Given the description of an element on the screen output the (x, y) to click on. 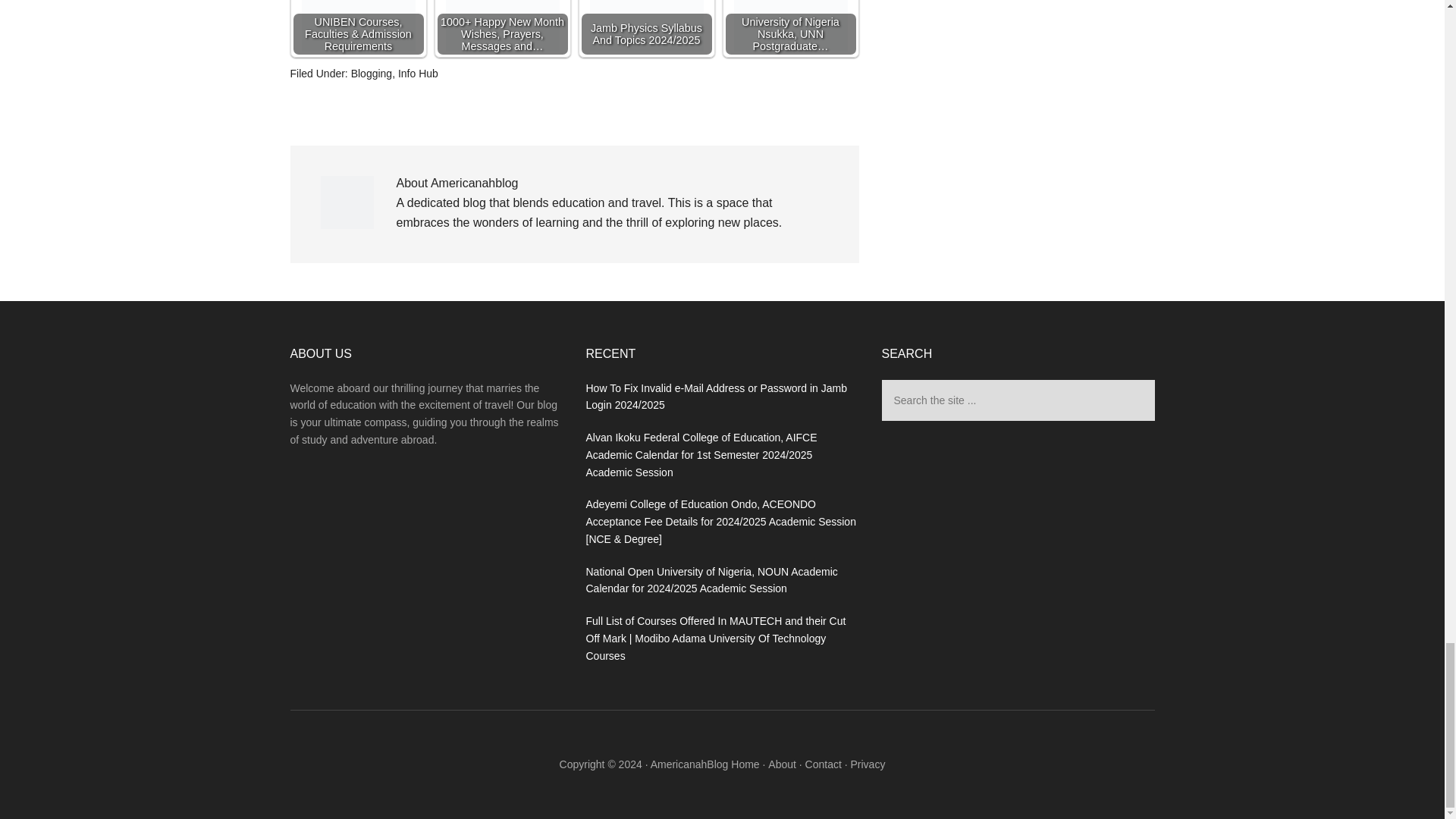
Info Hub (417, 73)
Blogging (371, 73)
